Given the description of an element on the screen output the (x, y) to click on. 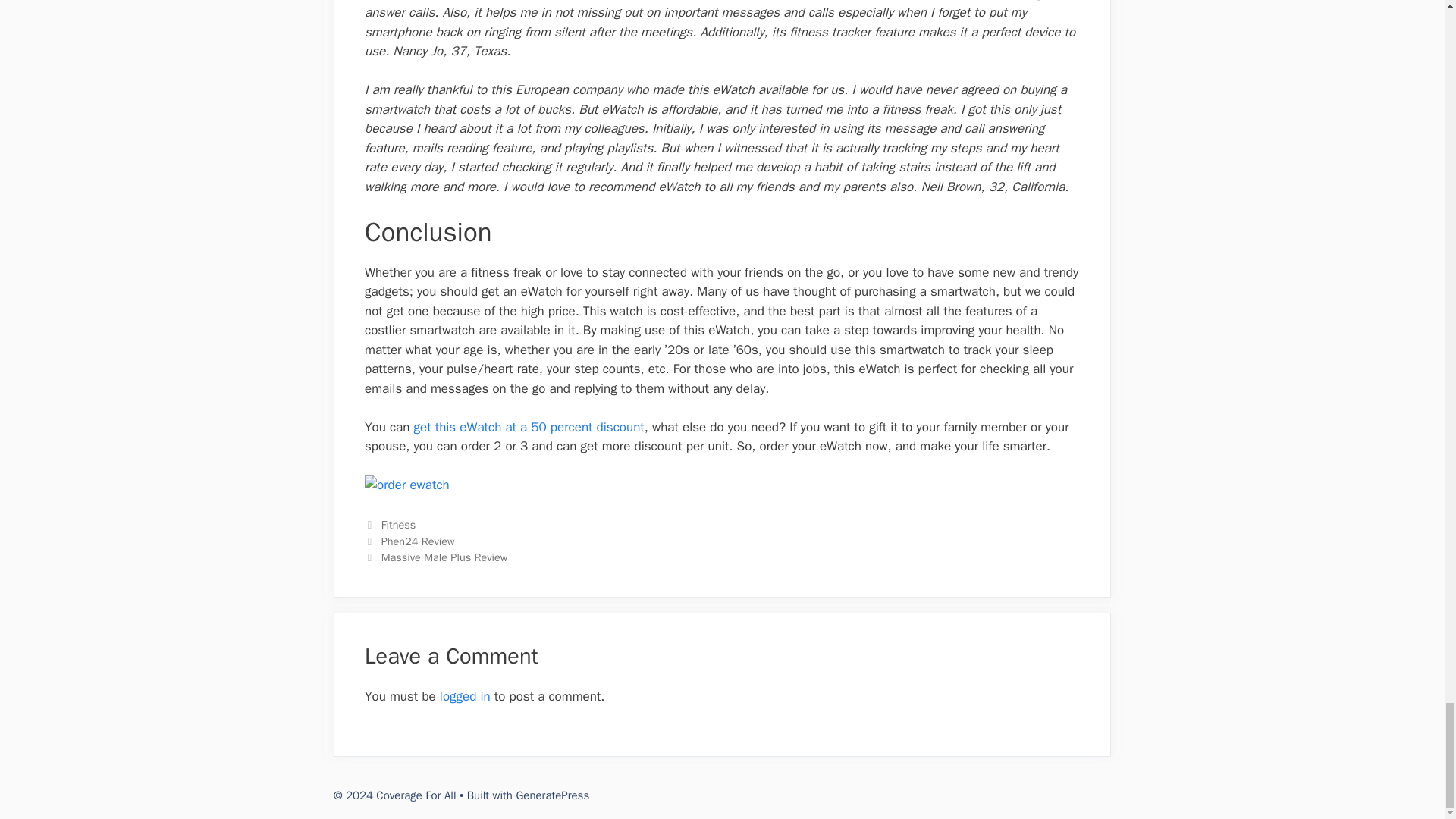
Fitness (398, 524)
logged in (464, 696)
GeneratePress (552, 795)
Massive Male Plus Review (444, 557)
get this eWatch at a 50 percent discount (529, 426)
Phen24 Review (417, 540)
